Given the description of an element on the screen output the (x, y) to click on. 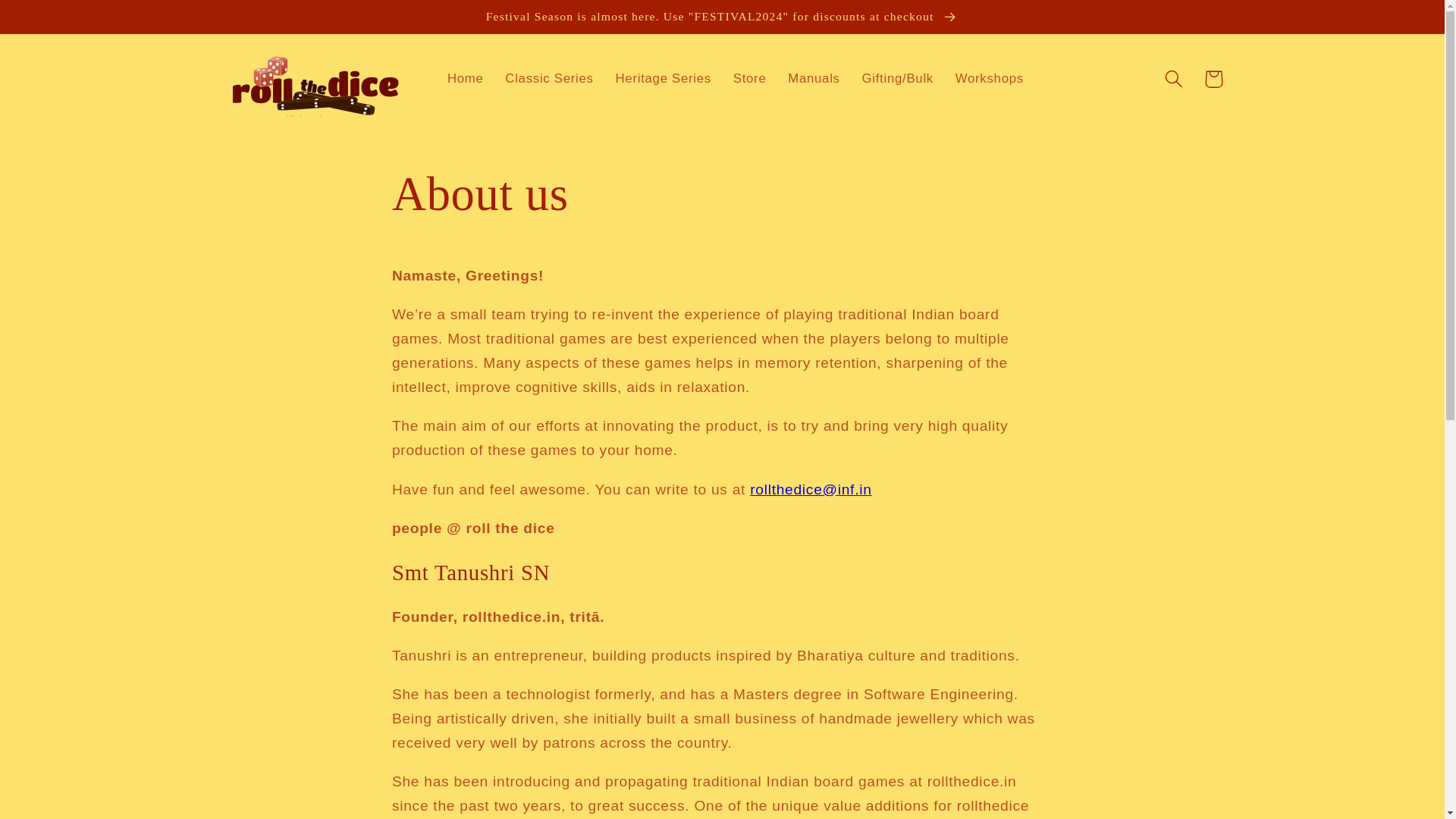
Manuals (813, 78)
Cart (1213, 78)
Classic Series (549, 78)
Heritage Series (663, 78)
Workshops (988, 78)
Skip to content (56, 21)
Store (749, 78)
Home (465, 78)
